Given the description of an element on the screen output the (x, y) to click on. 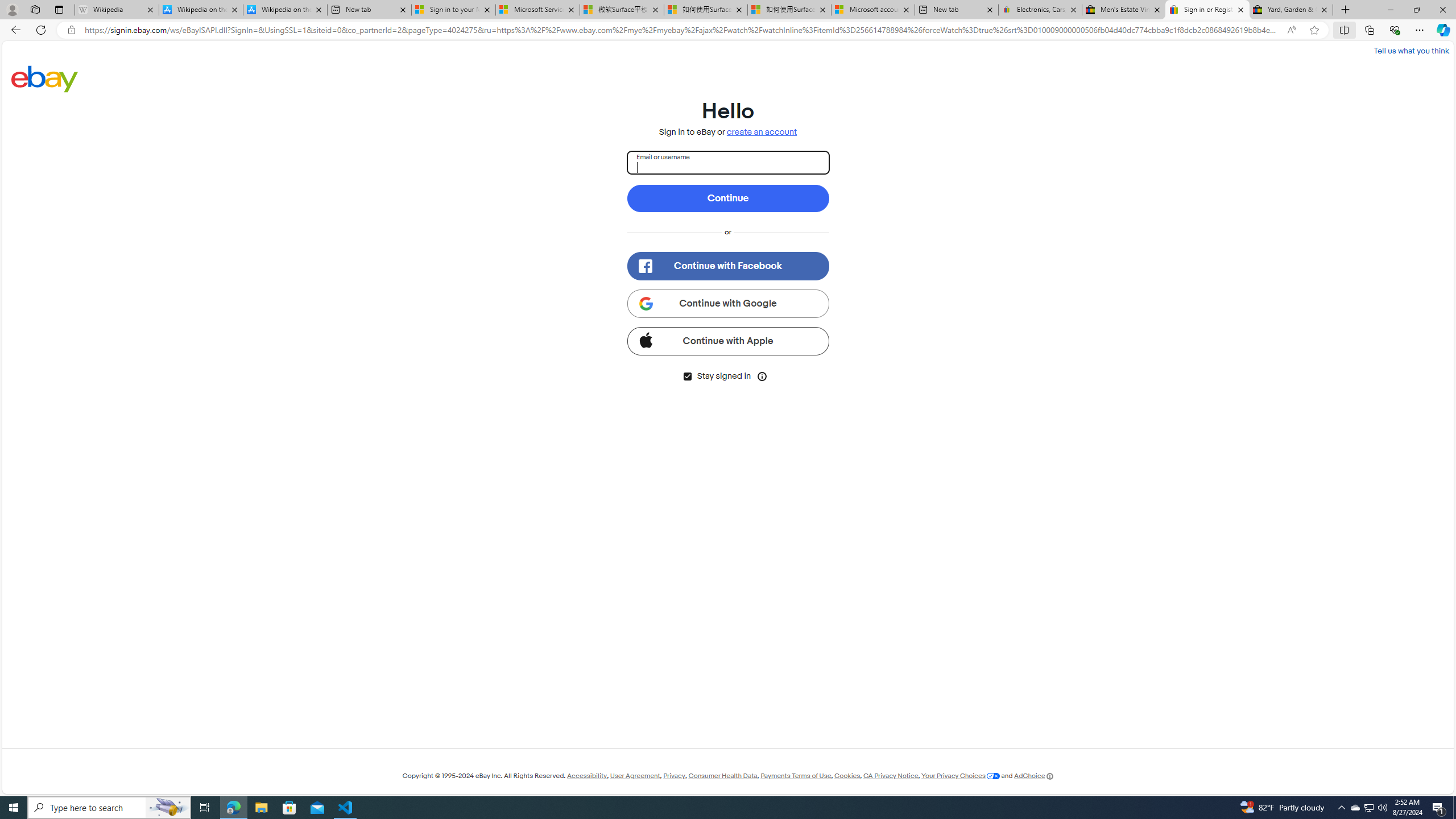
Payments Terms of Use (795, 775)
Sign in to your Microsoft account (453, 9)
